Given the description of an element on the screen output the (x, y) to click on. 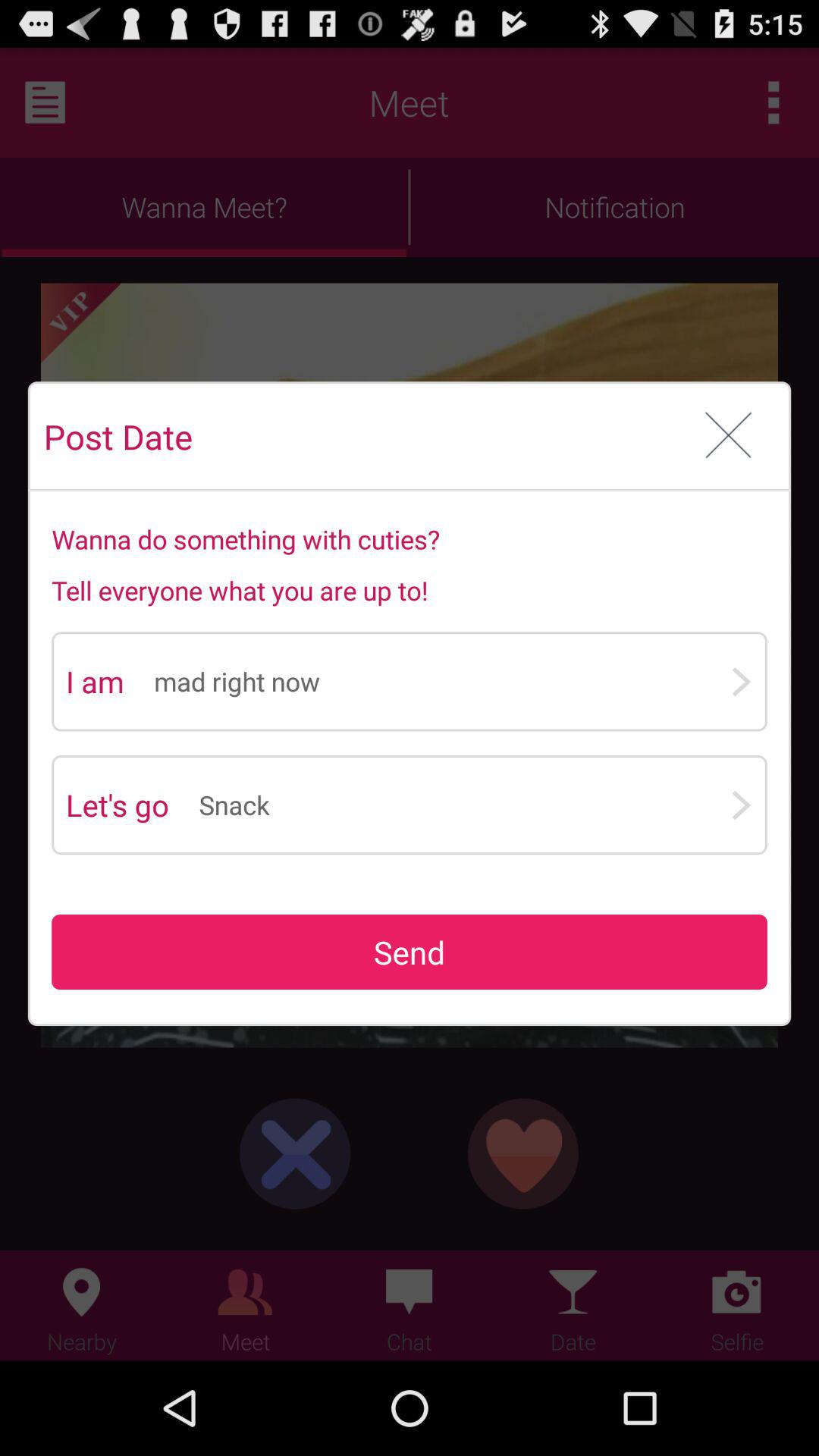
launch app to the right of the let's go app (464, 804)
